Given the description of an element on the screen output the (x, y) to click on. 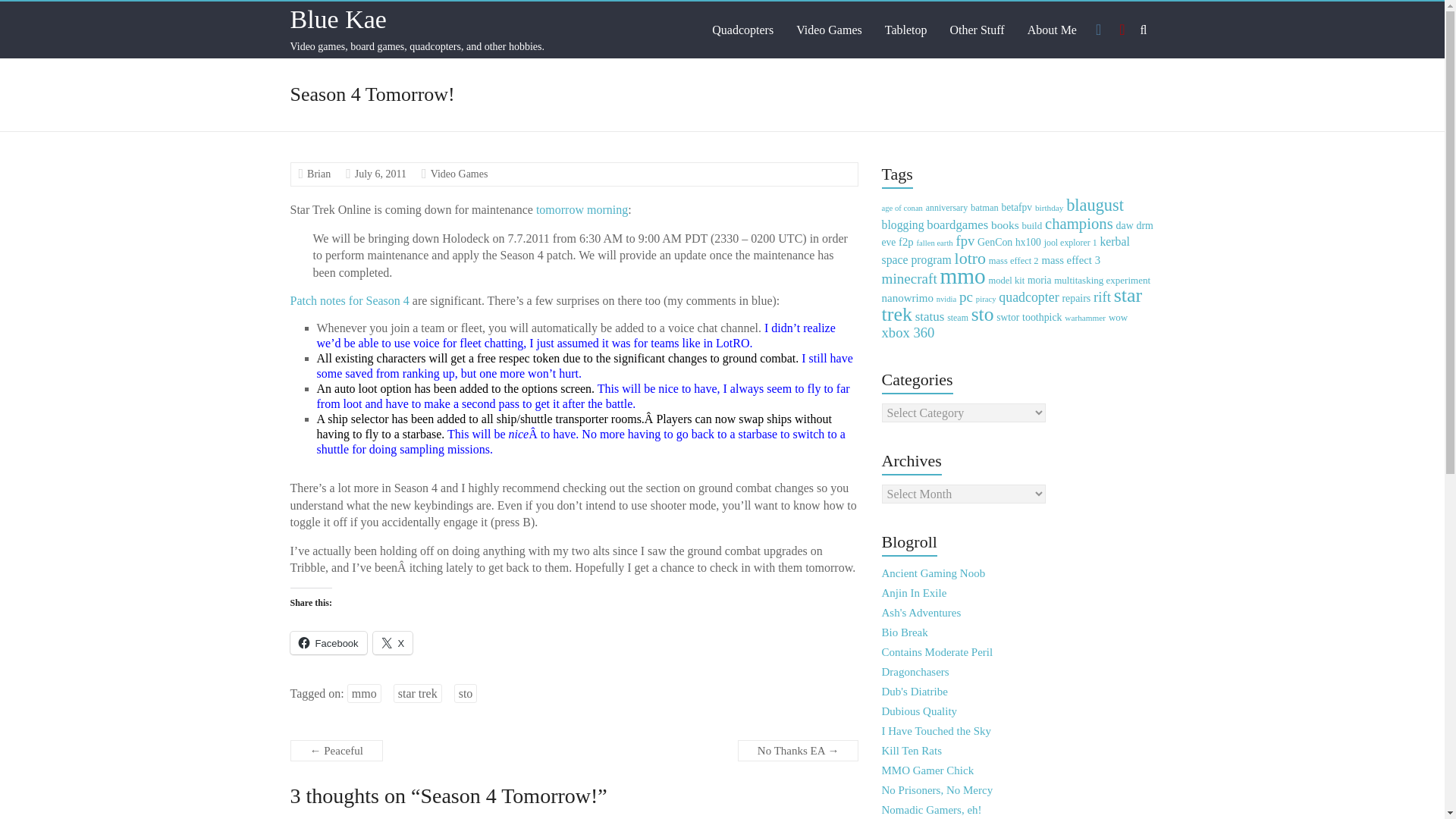
betafpv (1016, 206)
boardgames (957, 224)
YouTube (1122, 30)
Video Games (828, 29)
July 6, 2011 (380, 173)
star trek (417, 692)
blogging (903, 224)
Brian (318, 173)
books (1005, 224)
X (392, 642)
Blue Kae (337, 18)
Video Games (458, 173)
Facebook (327, 642)
Patch notes for Season 4 (349, 300)
Blue Kae (337, 18)
